Given the description of an element on the screen output the (x, y) to click on. 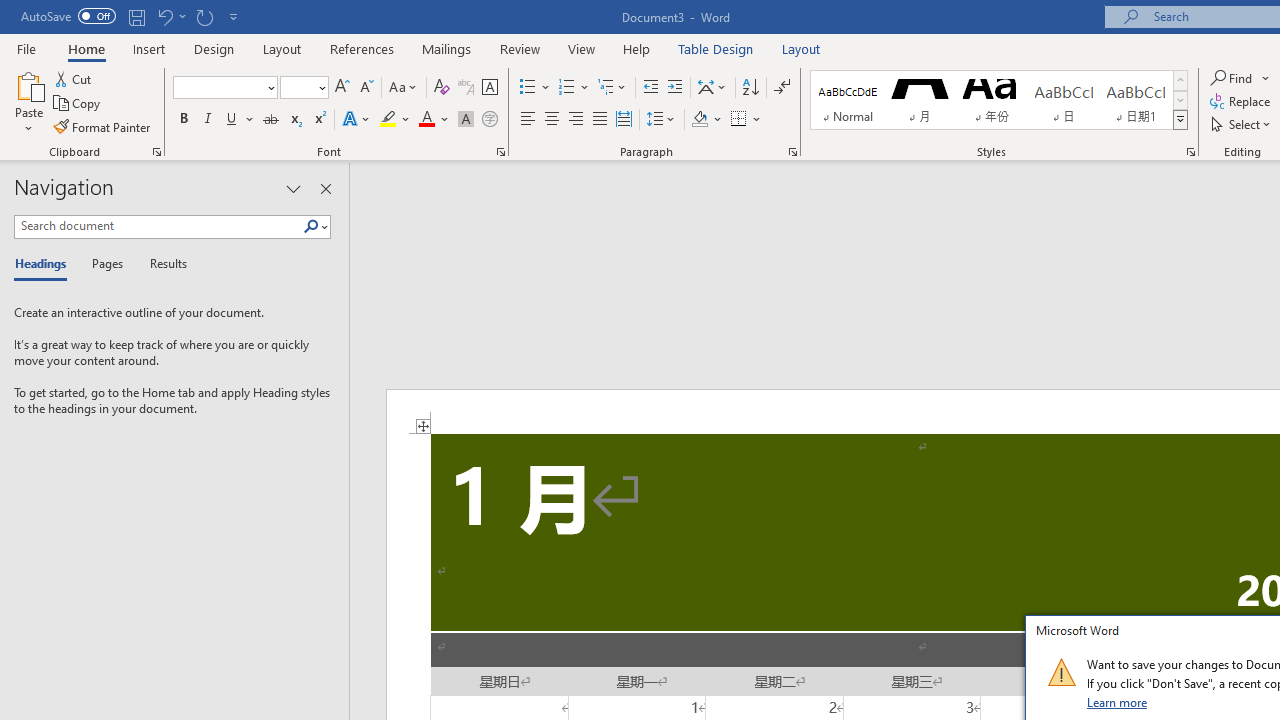
Office Clipboard... (156, 151)
Task Pane Options (293, 188)
Close pane (325, 188)
Row Down (1179, 100)
Review (520, 48)
Undo Text Fill Effect (164, 15)
Open (320, 87)
Replace... (1242, 101)
Font Size (297, 87)
File Tab (26, 48)
Underline (239, 119)
Italic (207, 119)
Character Shading (465, 119)
Subscript (294, 119)
